Given the description of an element on the screen output the (x, y) to click on. 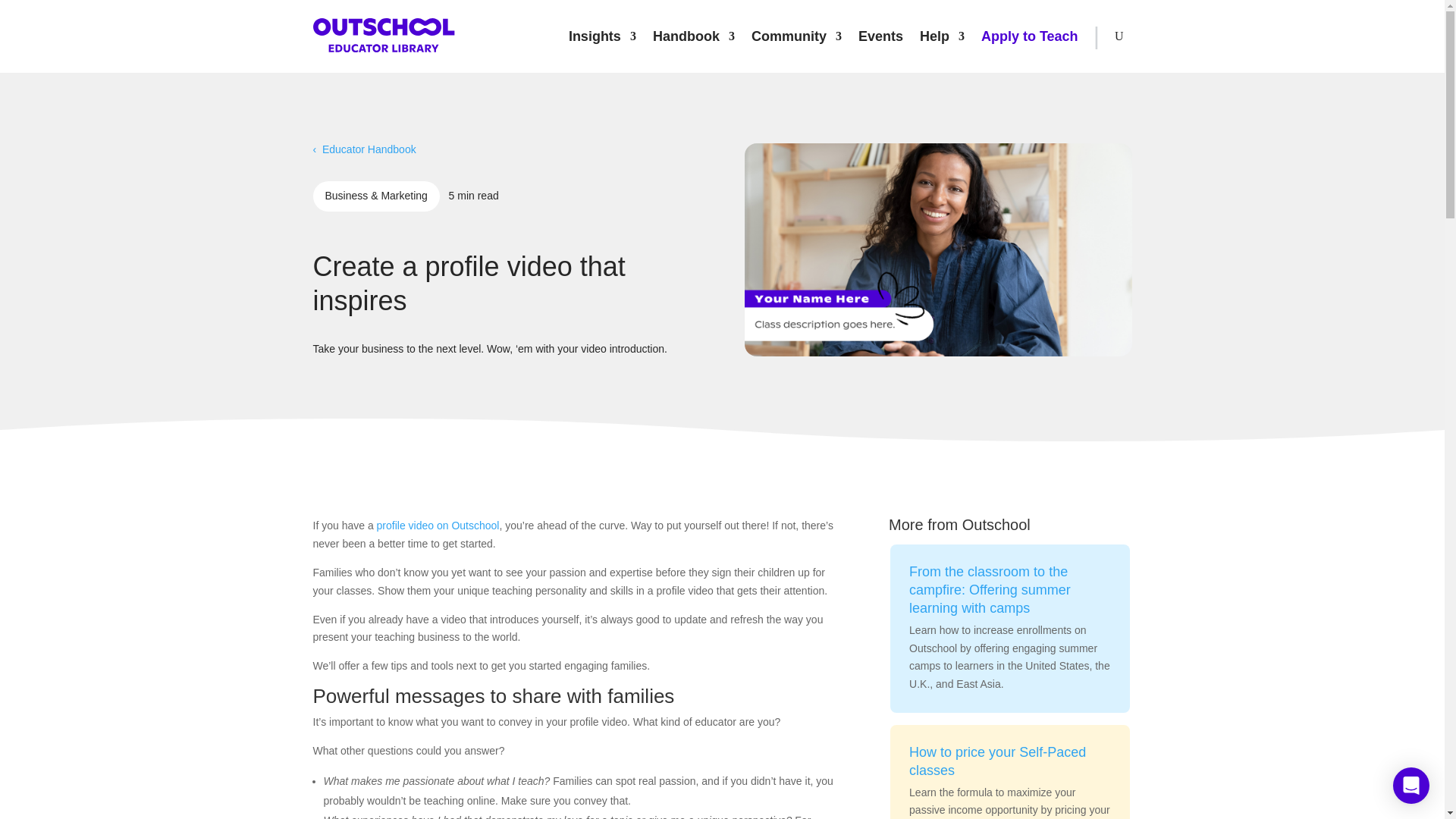
Apply to Teach (1029, 36)
createprofile (937, 249)
Handbook (693, 36)
Community (796, 36)
Insights (602, 36)
